Given the description of an element on the screen output the (x, y) to click on. 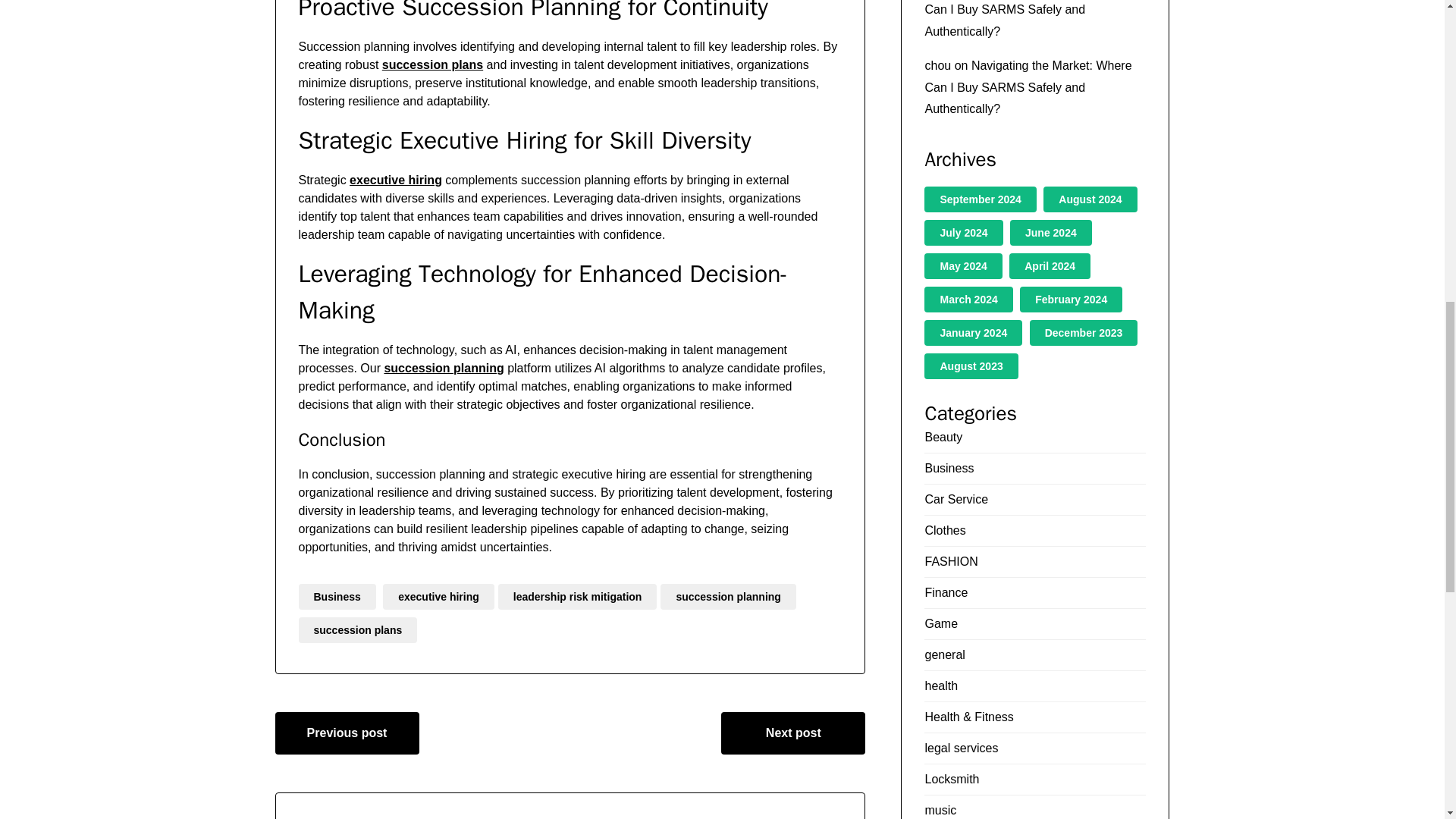
Next post (792, 732)
executive hiring (395, 179)
Business (336, 596)
executive hiring (438, 596)
May 2024 (963, 265)
April 2024 (1050, 265)
succession planning (443, 367)
March 2024 (968, 299)
February 2024 (1070, 299)
